Given the description of an element on the screen output the (x, y) to click on. 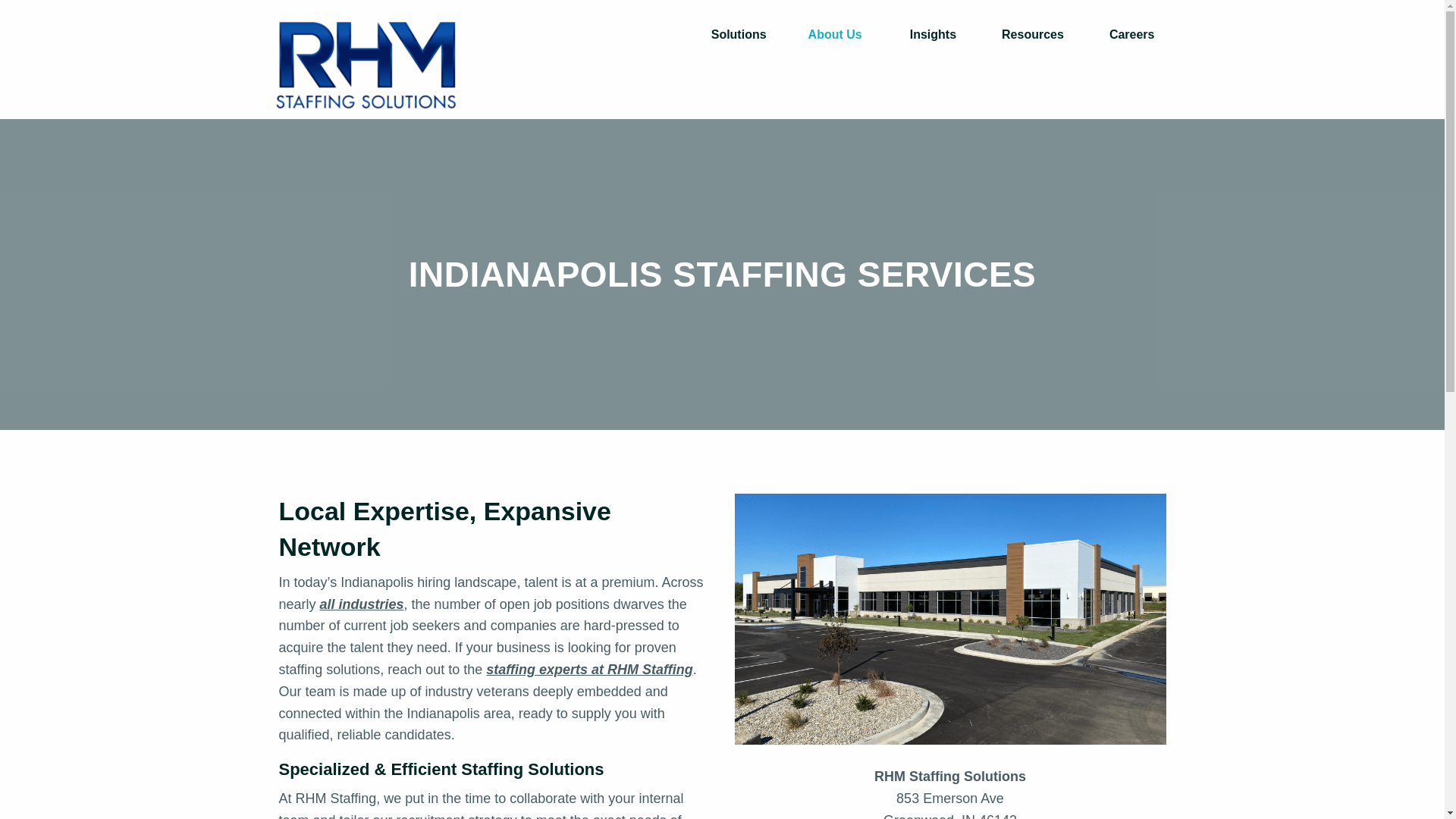
About Us (839, 34)
Insights (932, 34)
staffing experts at RHM Staffing (589, 669)
Careers (1131, 34)
Resources (1032, 34)
RHM Staffing Solutions (365, 64)
Solutions (743, 34)
all industries (362, 604)
